Given the description of an element on the screen output the (x, y) to click on. 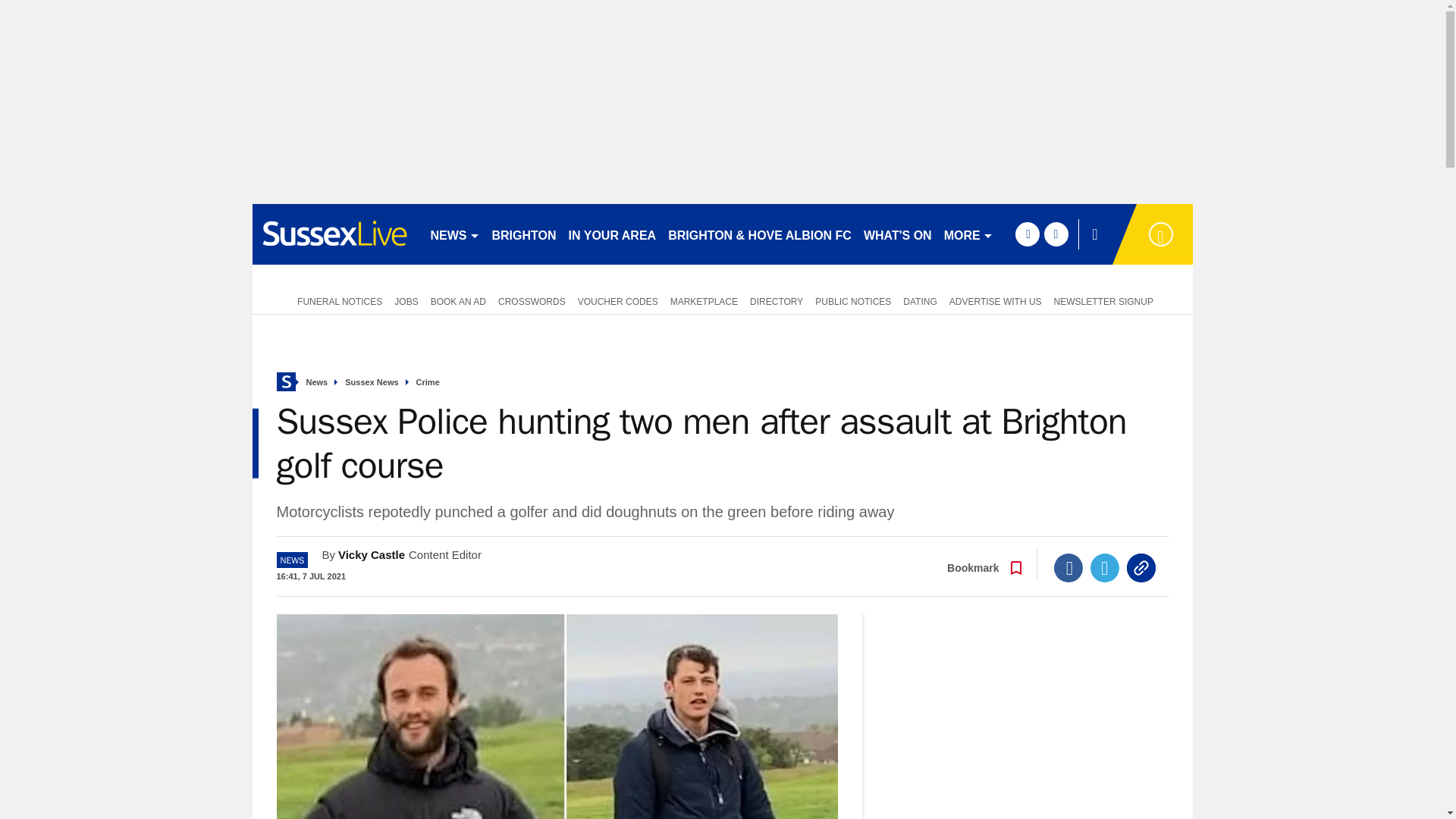
Twitter (1104, 567)
BOOK AN AD (458, 300)
VOUCHER CODES (617, 300)
BRIGHTON (523, 233)
MORE (967, 233)
DIRECTORY (776, 300)
facebook (1026, 233)
MARKETPLACE (703, 300)
JOBS (405, 300)
Facebook (1068, 567)
NEWS (455, 233)
FUNERAL NOTICES (336, 300)
CROSSWORDS (532, 300)
IN YOUR AREA (612, 233)
PUBLIC NOTICES (852, 300)
